Given the description of an element on the screen output the (x, y) to click on. 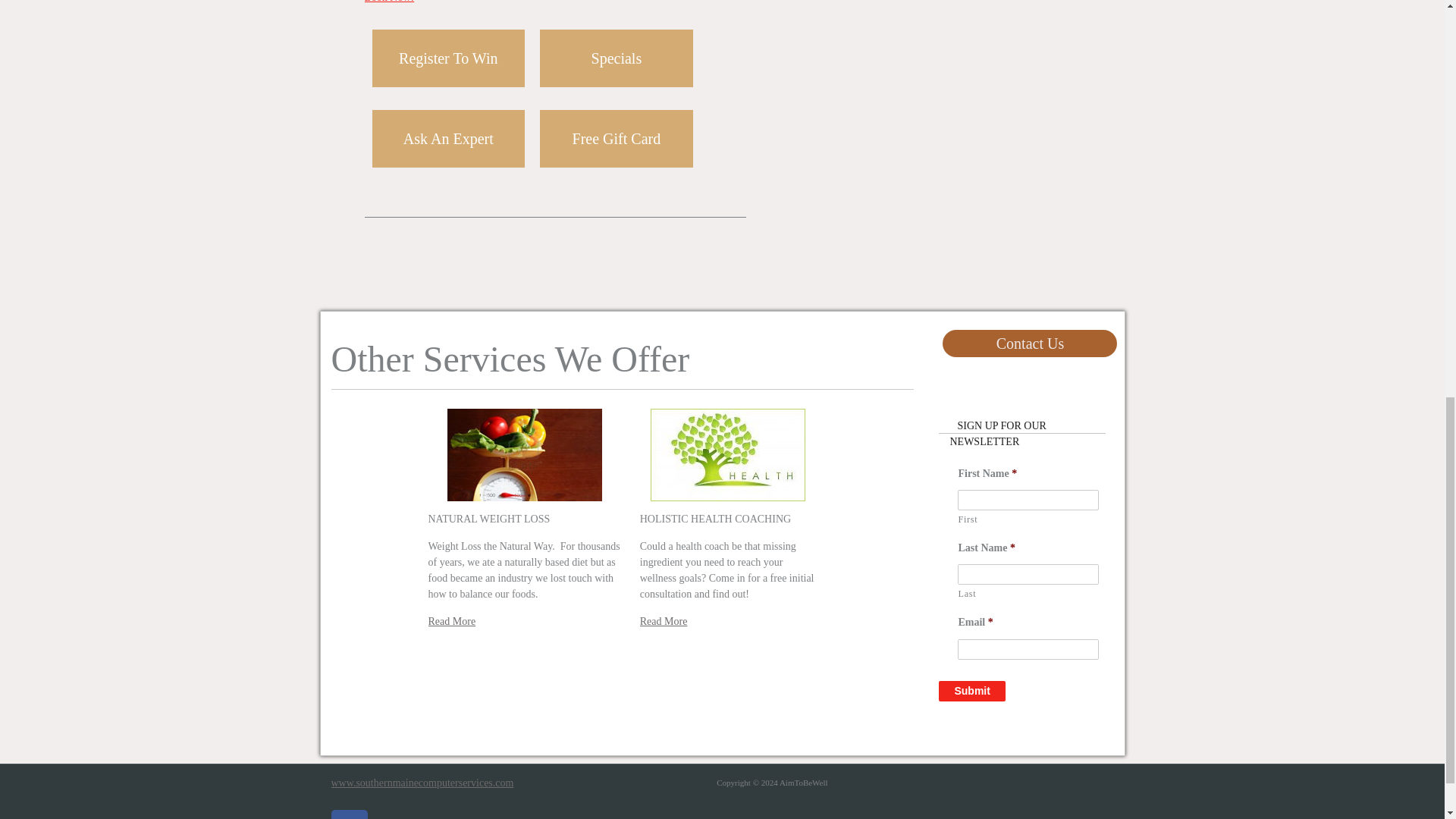
www.southernmainecomputerservices.com (421, 782)
Contact Us (1029, 343)
Read More (452, 621)
Book Now! (388, 1)
Read More (663, 621)
Submit (971, 690)
Contact Us (1029, 343)
Submit (971, 690)
